Given the description of an element on the screen output the (x, y) to click on. 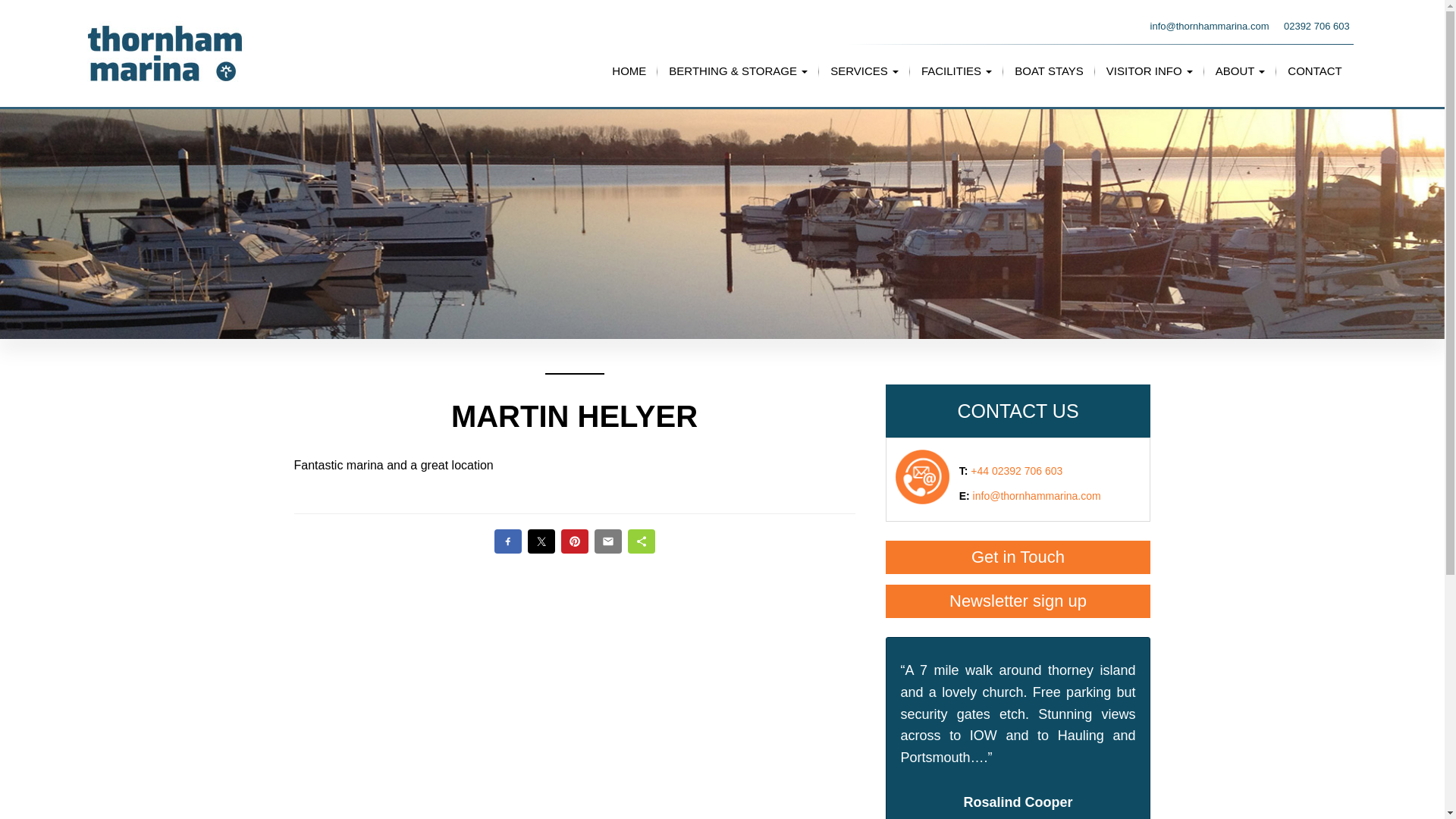
02392 706 603 (1316, 25)
Facilities (956, 71)
Home (628, 71)
FACILITIES (956, 71)
CONTACT (1314, 71)
BOAT STAYS (1048, 71)
Services (864, 71)
VISITOR INFO (1149, 71)
HOME (628, 71)
Click to call now (1316, 25)
SERVICES (864, 71)
ABOUT (1240, 71)
Boat Stays (1048, 71)
Visitor Info (1149, 71)
